Given the description of an element on the screen output the (x, y) to click on. 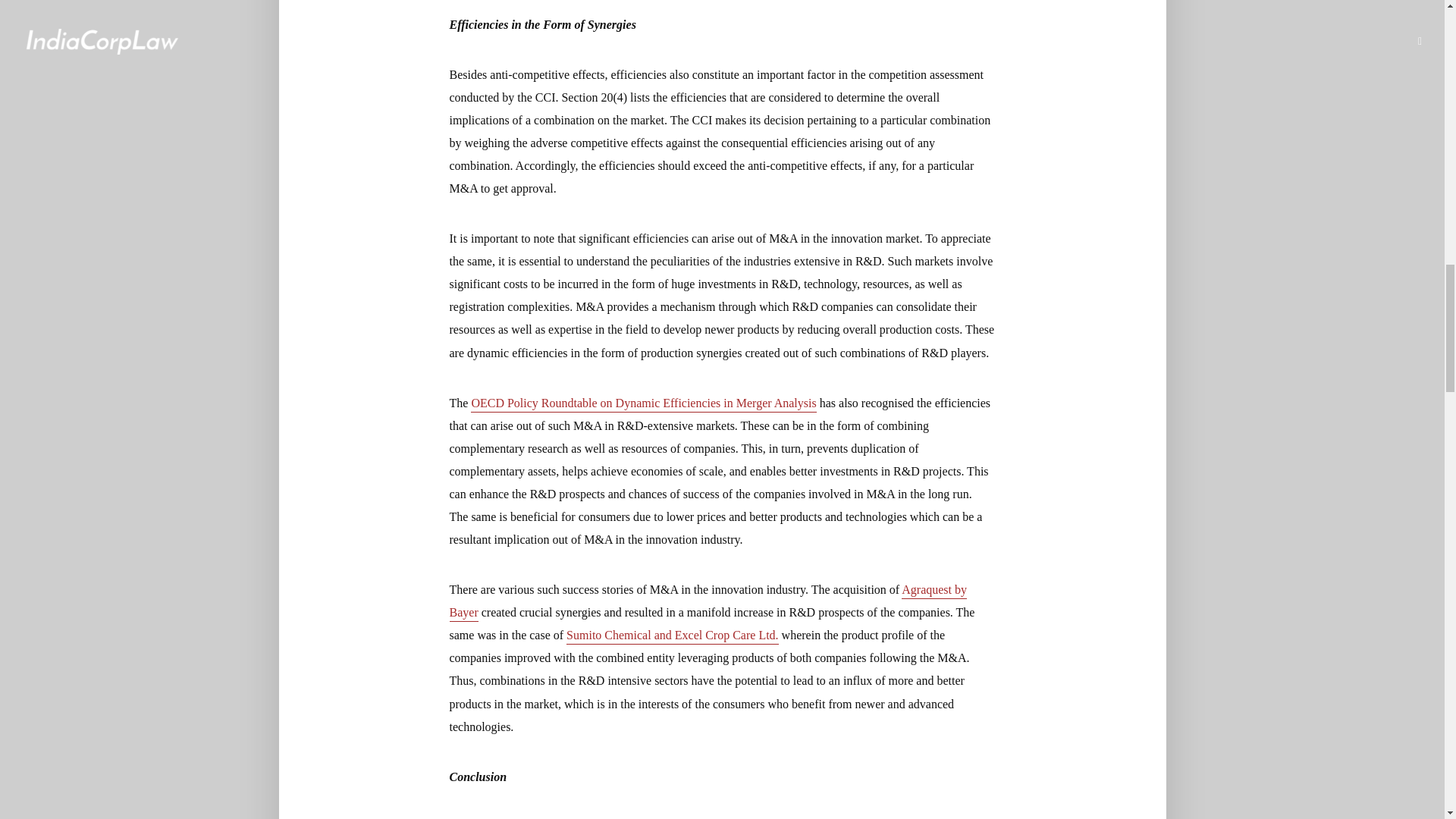
Agraquest by Bayer (707, 602)
Sumito Chemical and Excel Crop Care Ltd. (672, 636)
